Given the description of an element on the screen output the (x, y) to click on. 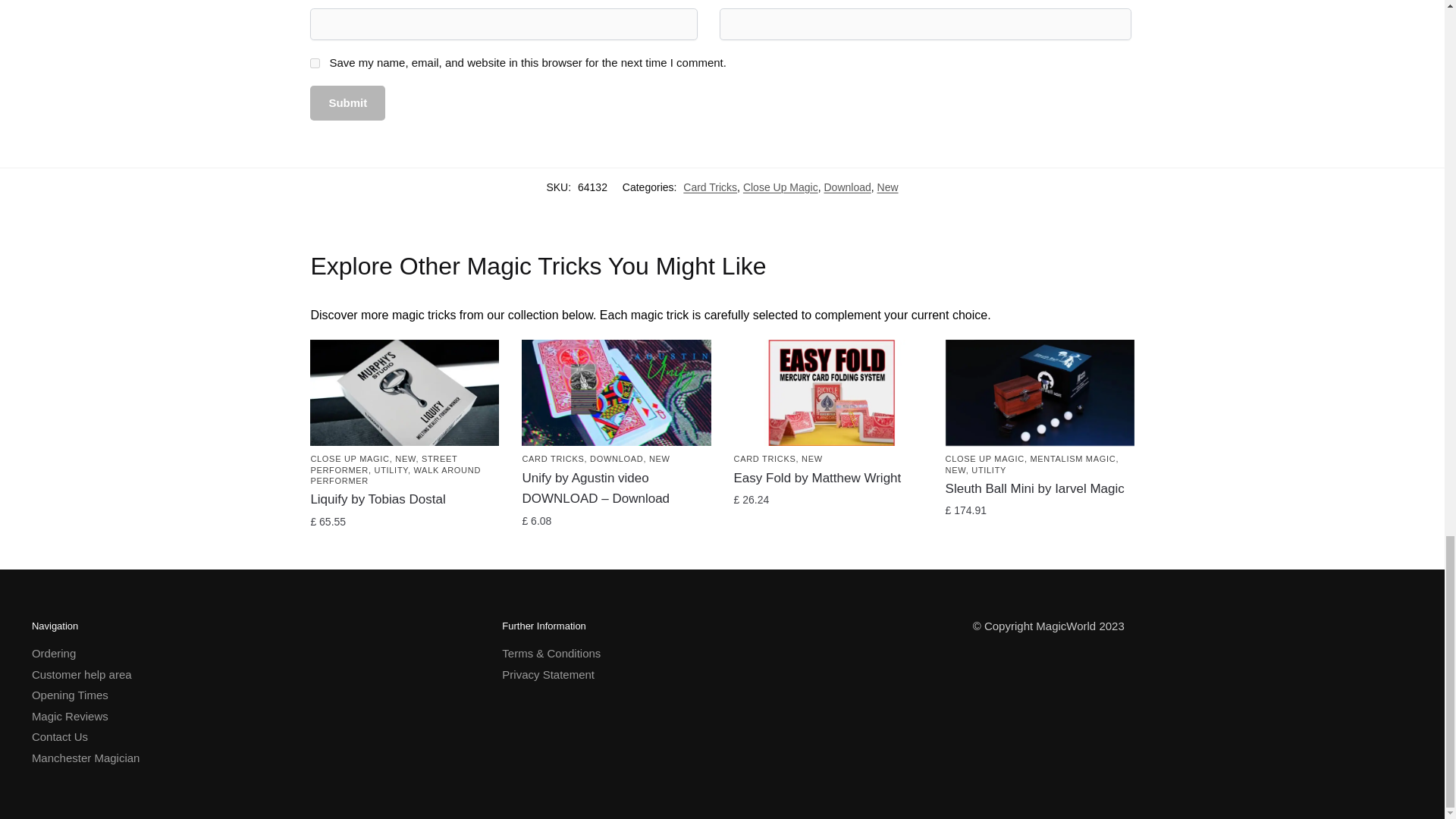
Sleuth Ball Mini by Iarvel Magic (1039, 392)
yes (315, 62)
Submit (347, 103)
Easy Fold by Matthew Wright (828, 392)
Liquify by Tobias Dostal (404, 392)
